Given the description of an element on the screen output the (x, y) to click on. 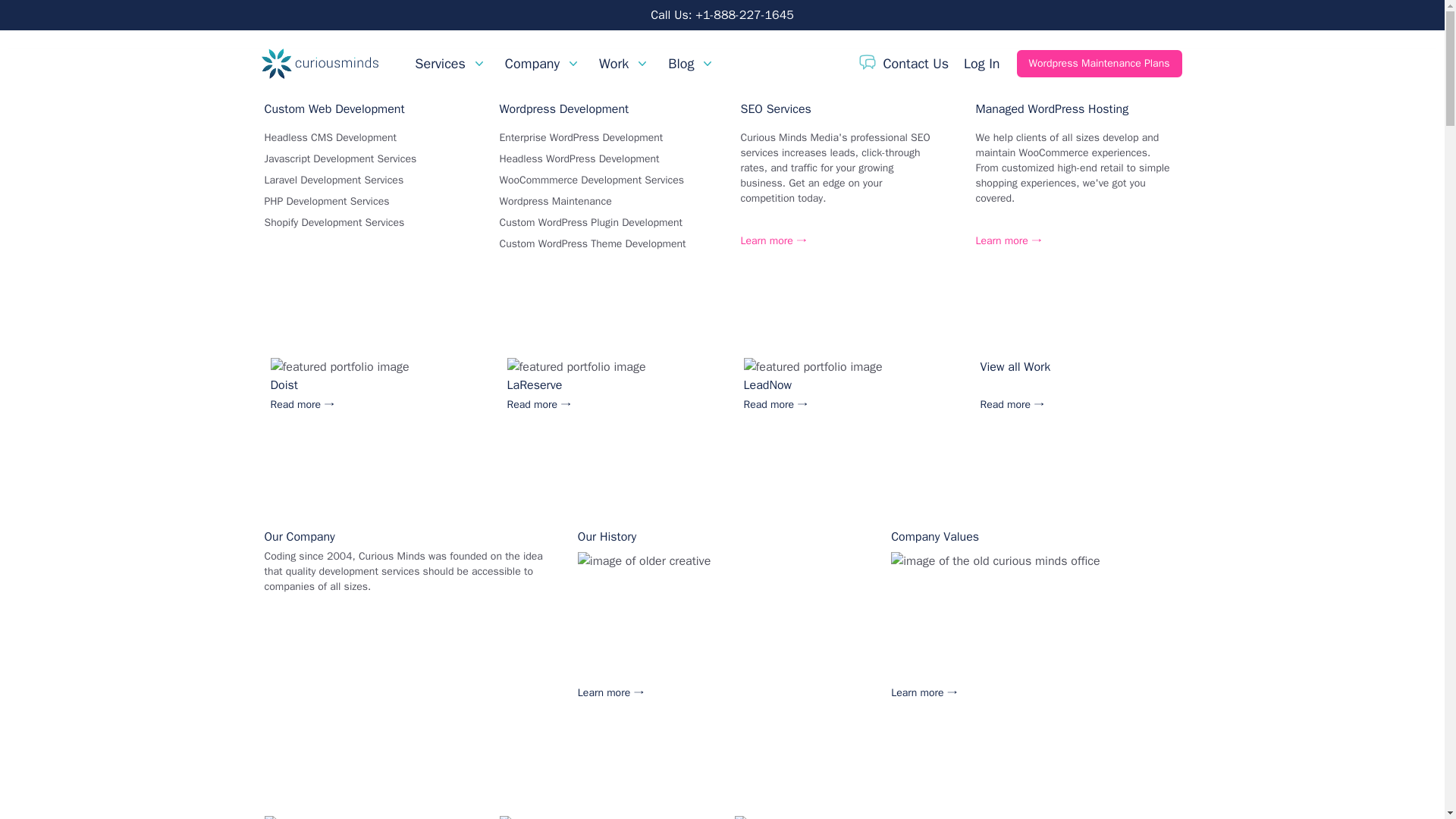
Shopify Development Services (333, 222)
Javascript Development Services (339, 158)
Custom Web Development (333, 109)
WooCommmerce Development Services (591, 179)
Log In (980, 63)
PHP Development Services (325, 201)
Laravel Development Services (333, 179)
Headless WordPress Development (579, 158)
Wordpress Maintenance (555, 201)
Headless CMS Development (329, 137)
Wordpress Maintenance Plans (1098, 63)
Custom WordPress Plugin Development (590, 222)
Contact Us (904, 63)
Enterprise WordPress Development (580, 137)
Custom WordPress Theme Development (592, 243)
